Given the description of an element on the screen output the (x, y) to click on. 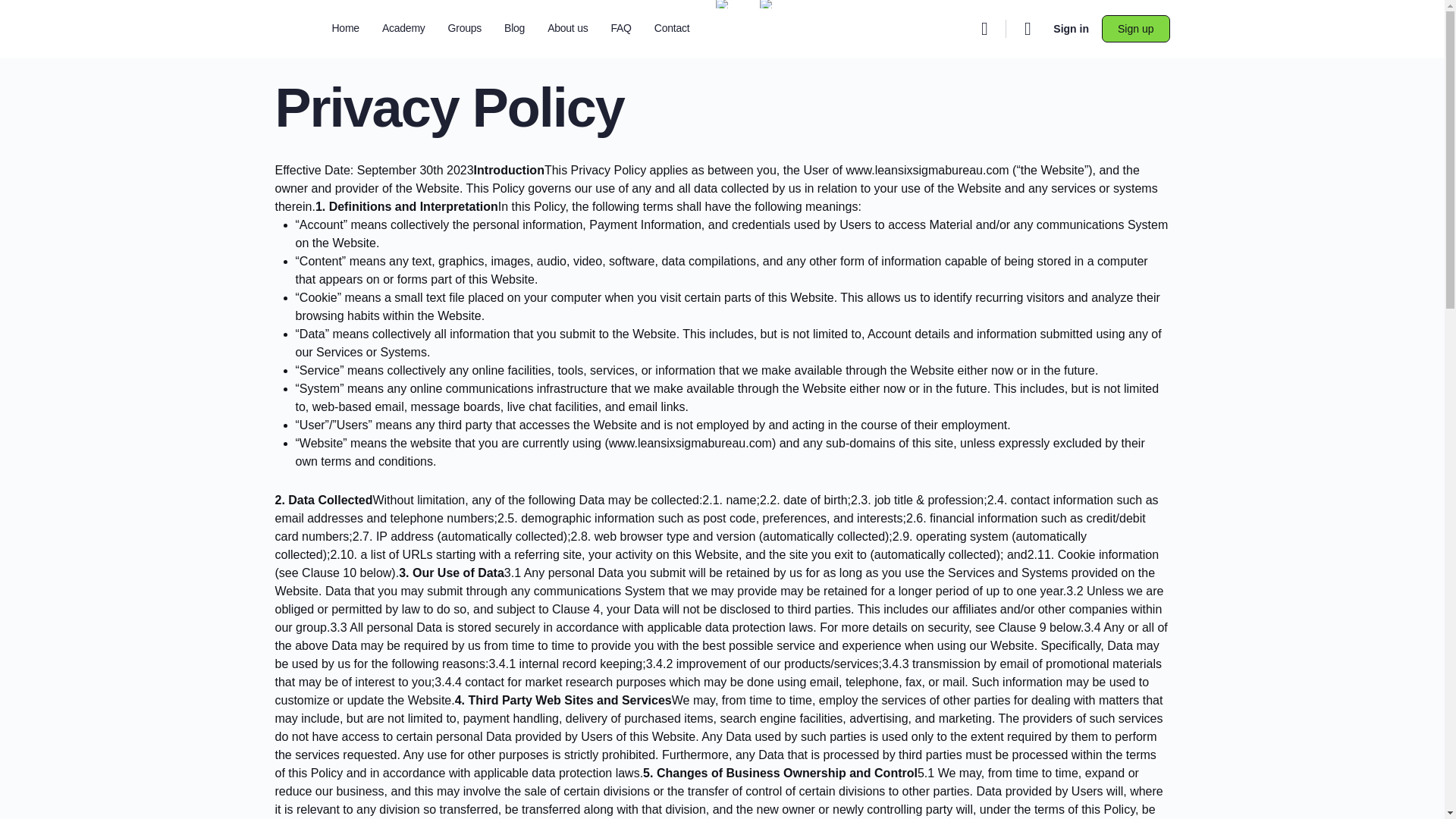
www.leansixsigmabureau.com (927, 169)
Dutch (766, 4)
English (722, 4)
Sign up (1135, 28)
www.leansixsigmabureau.com (689, 442)
Academy (403, 28)
Sign in (1070, 28)
About us (567, 28)
